Given the description of an element on the screen output the (x, y) to click on. 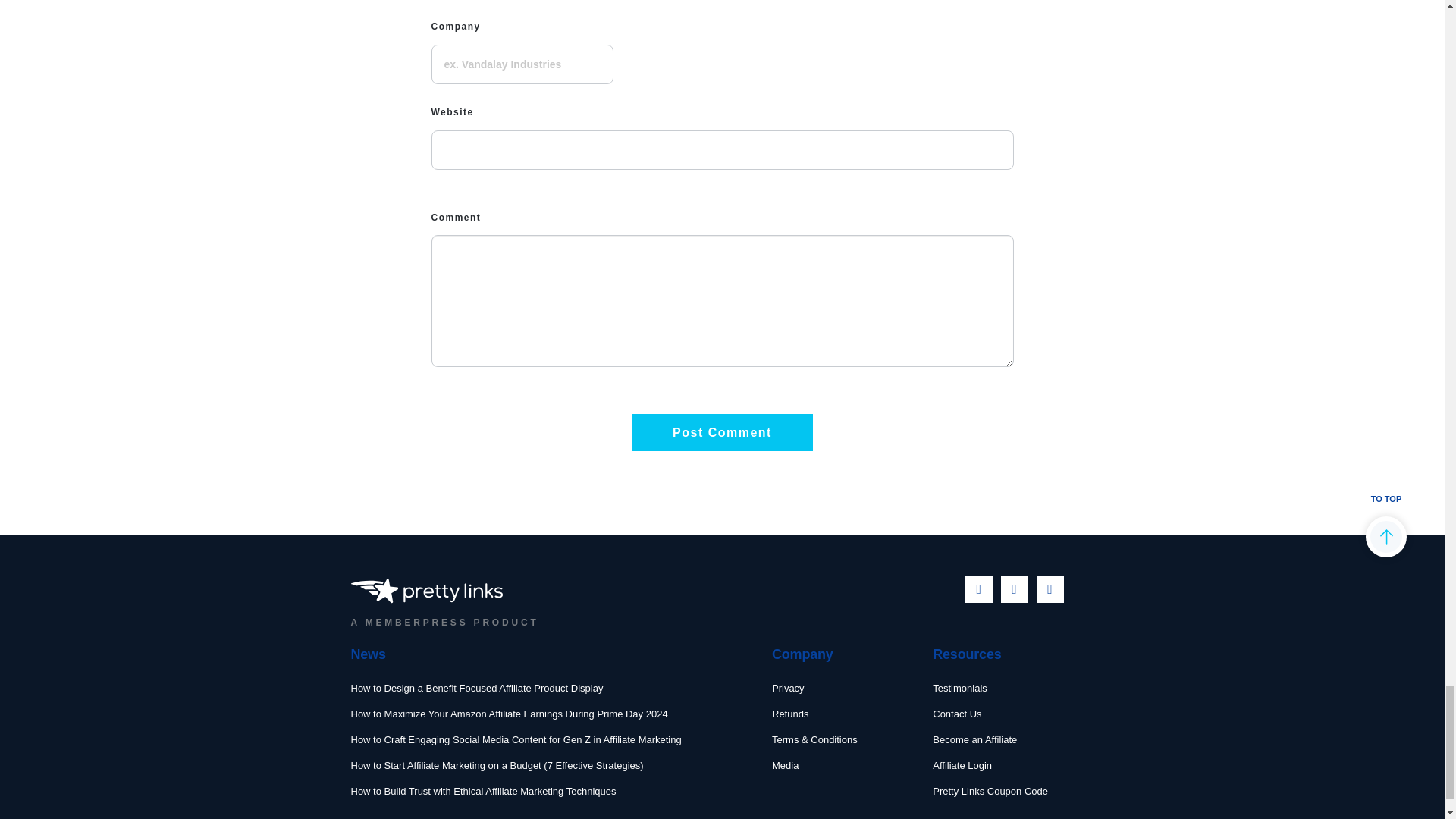
Post Comment (721, 432)
